Given the description of an element on the screen output the (x, y) to click on. 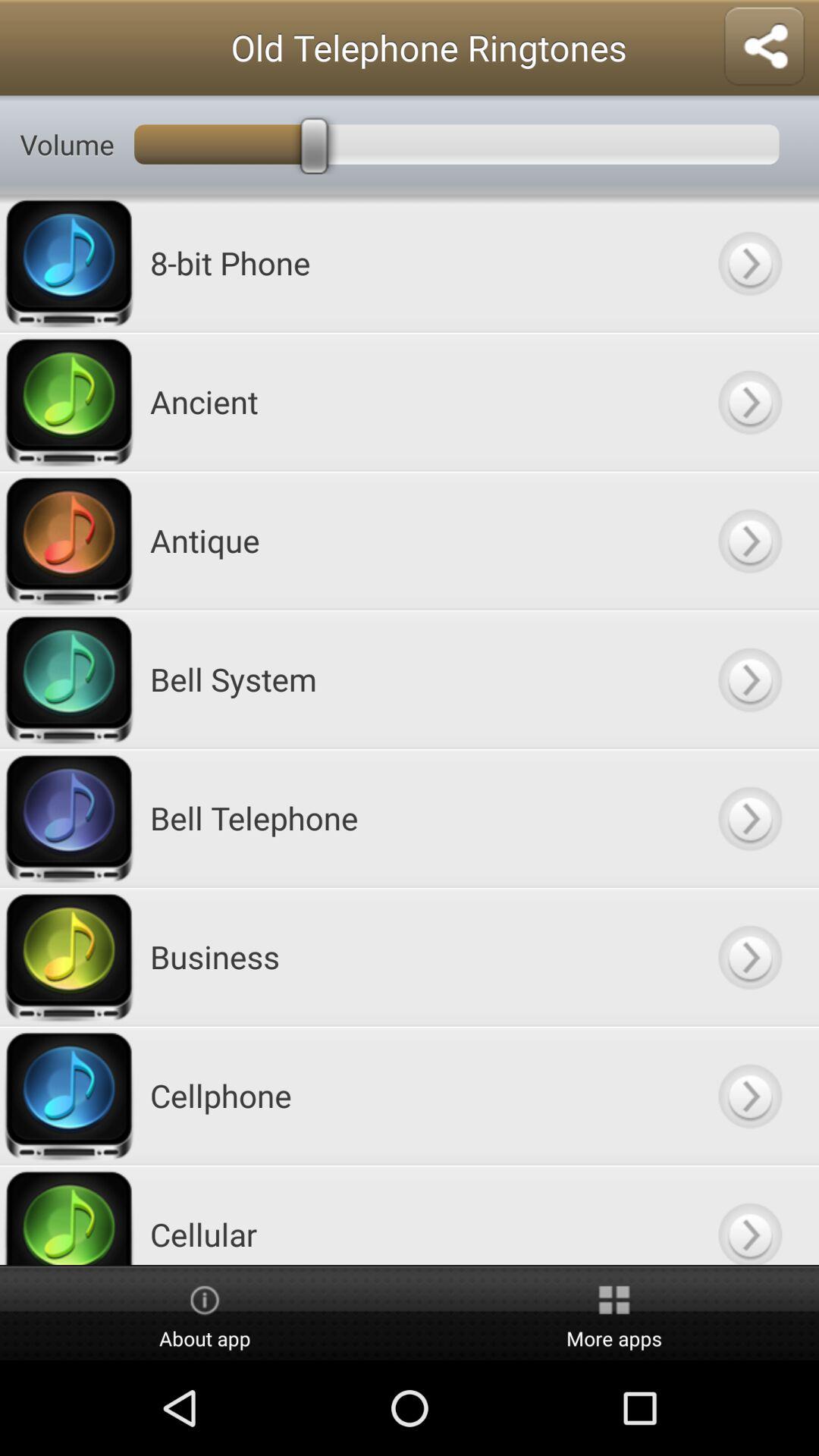
key button (749, 262)
